Given the description of an element on the screen output the (x, y) to click on. 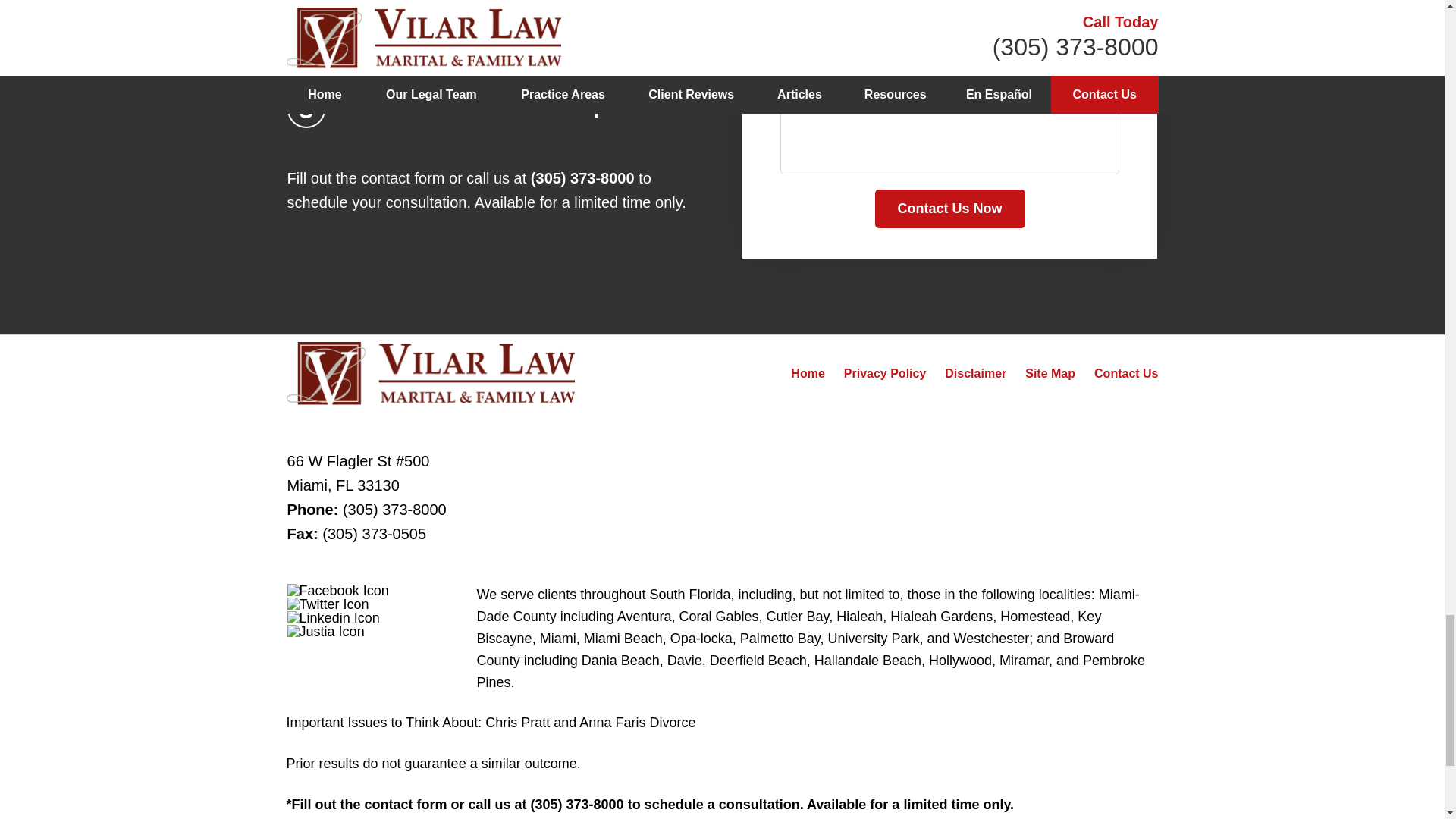
Twitter (327, 603)
Justia (325, 631)
Linkedin (333, 617)
Facebook (337, 590)
